Given the description of an element on the screen output the (x, y) to click on. 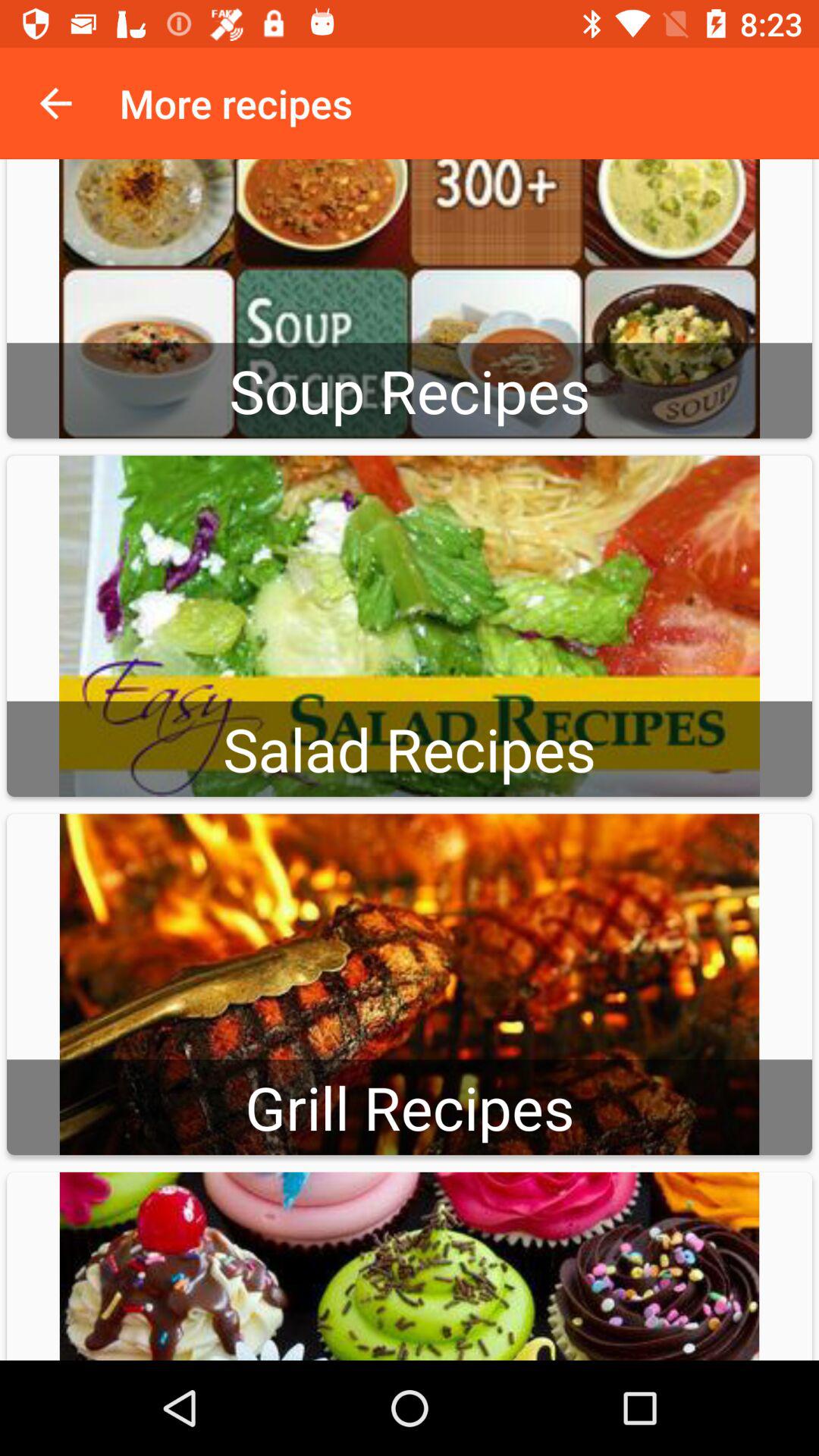
tap the icon next to more recipes app (55, 103)
